Given the description of an element on the screen output the (x, y) to click on. 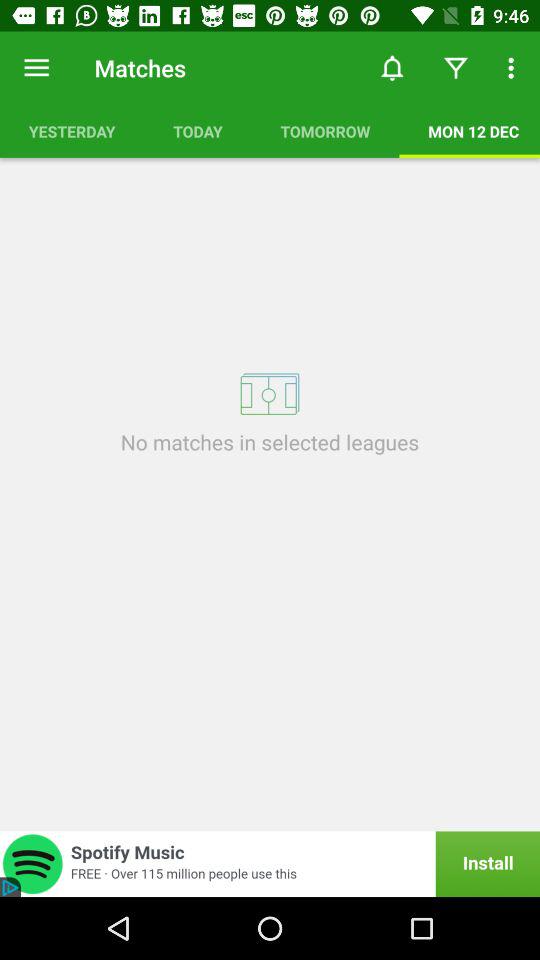
select icon next to today icon (72, 131)
